Given the description of an element on the screen output the (x, y) to click on. 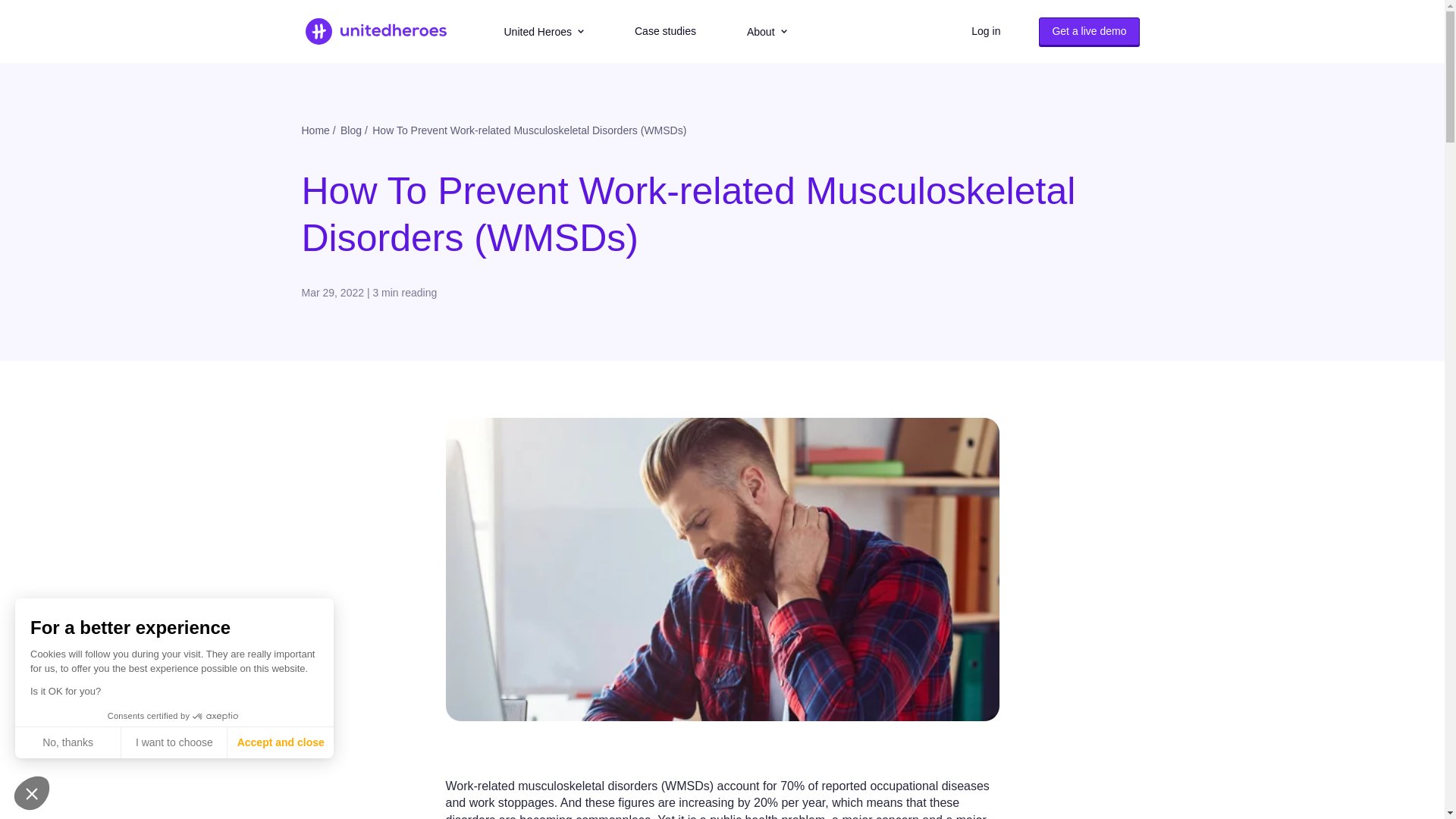
About (767, 31)
Get a live demo (1088, 31)
0 (106, 766)
Case studies (665, 31)
Log in (985, 31)
Continue and decide later (31, 792)
Get a live demo (1088, 31)
United Heroes (543, 31)
Blog (350, 130)
Skip to main content (11, 11)
Log in (985, 31)
Home (315, 130)
